Given the description of an element on the screen output the (x, y) to click on. 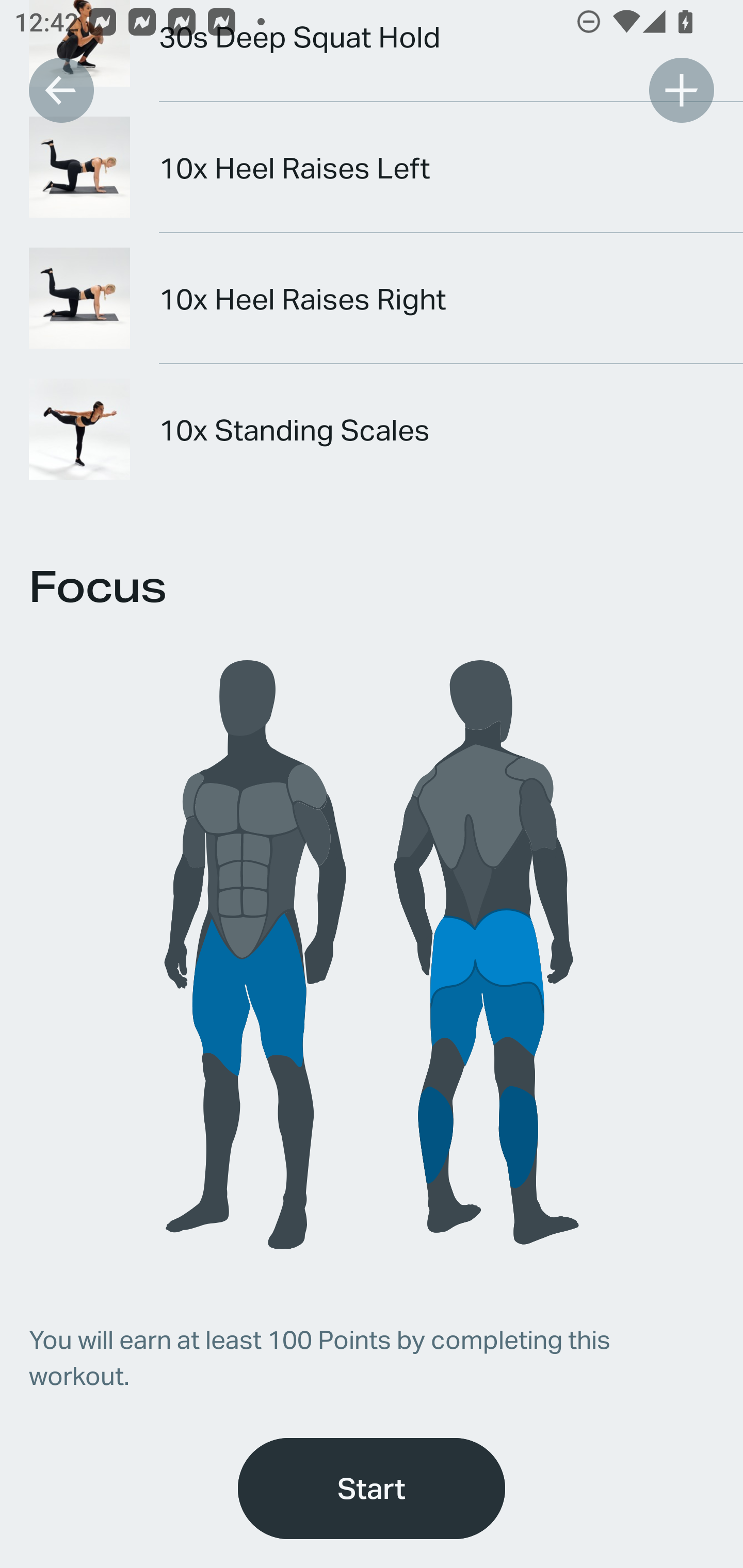
Go back (60, 90)
Log (681, 90)
Start (371, 1488)
